Given the description of an element on the screen output the (x, y) to click on. 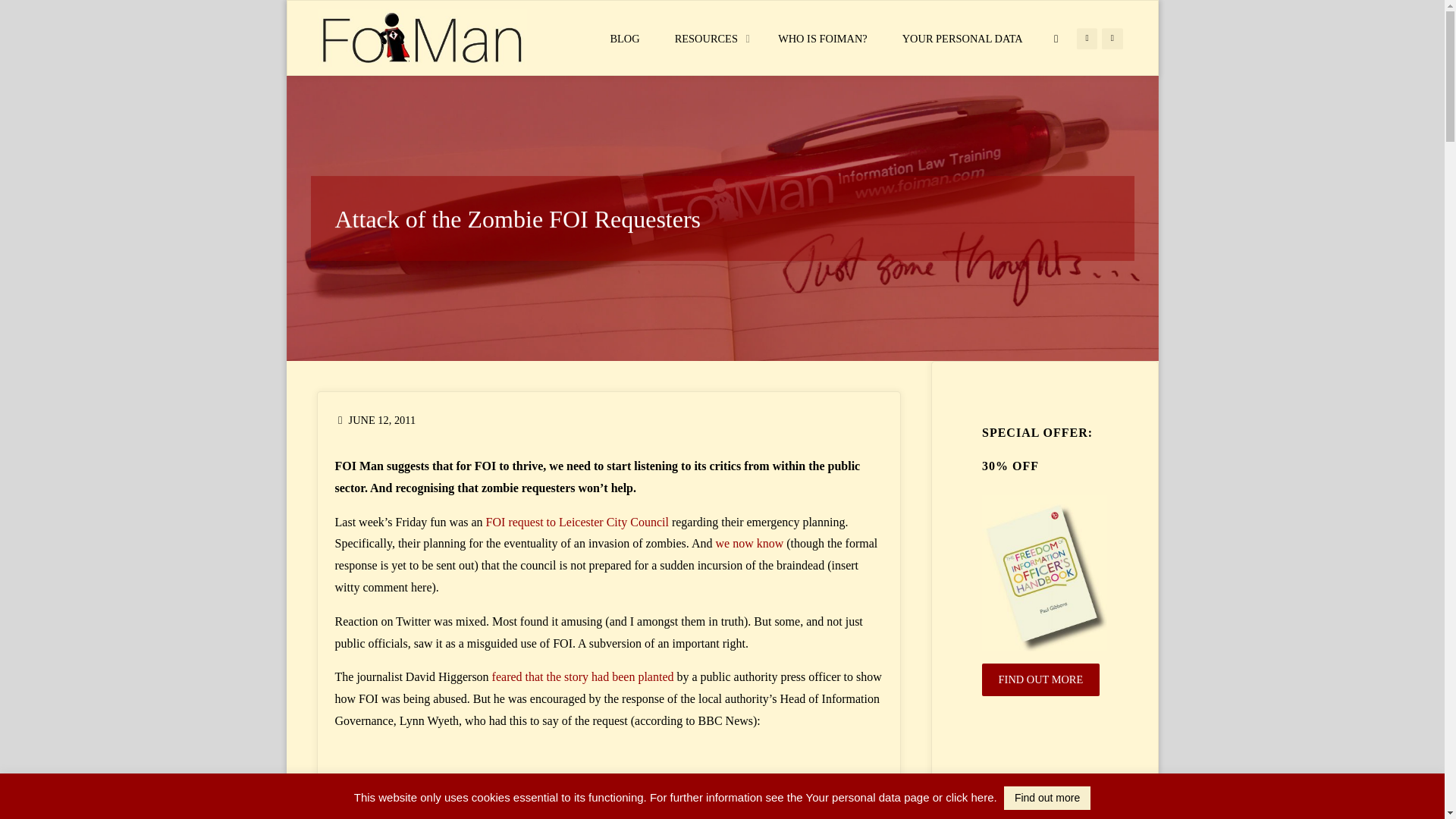
Menu item (1112, 38)
RESOURCES (709, 38)
Menu item (1087, 38)
FOIMan (421, 38)
